Given the description of an element on the screen output the (x, y) to click on. 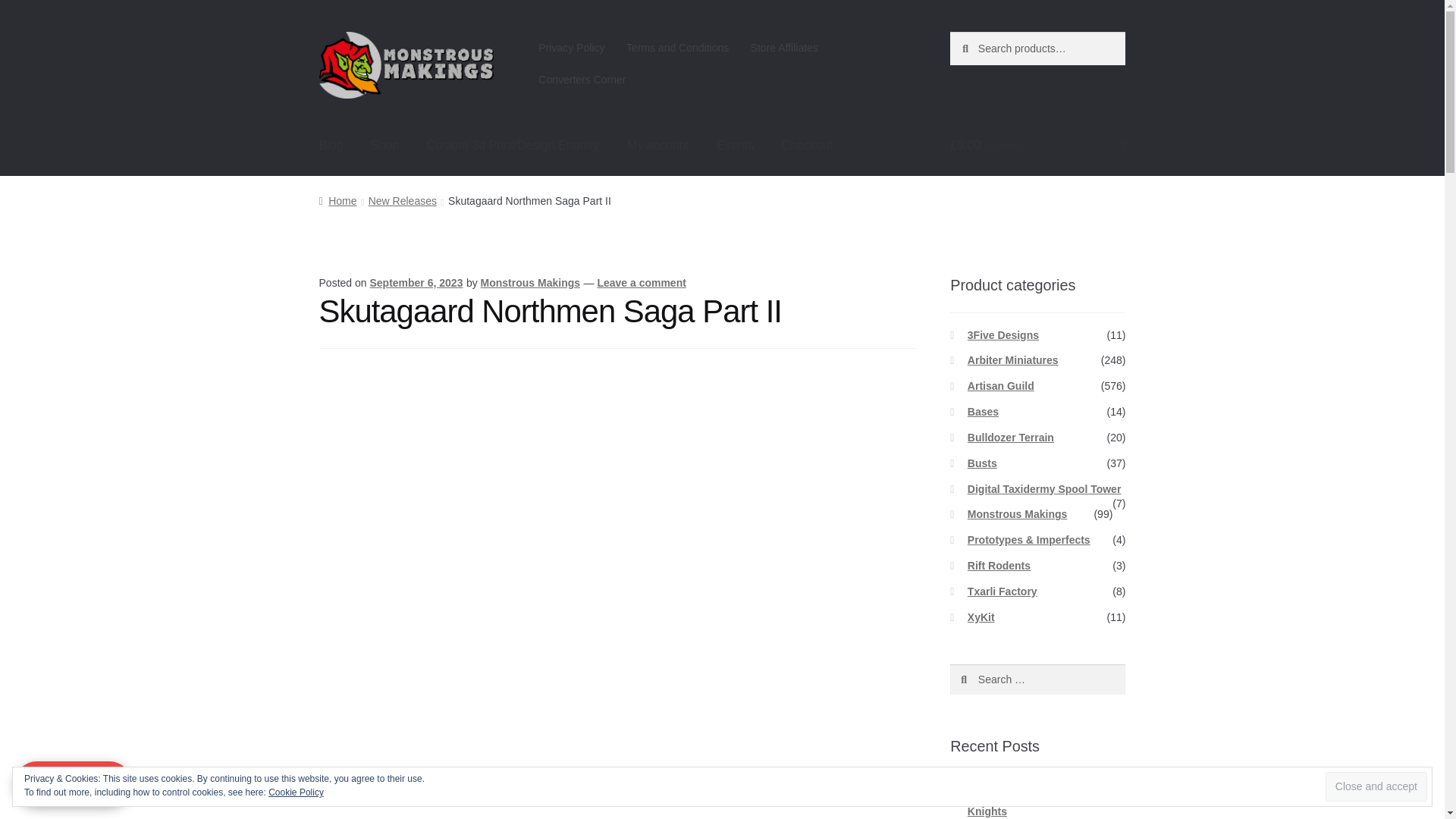
Leave a comment (640, 282)
View your shopping basket (1037, 145)
Privacy Policy (571, 47)
Checkout (807, 145)
Home (337, 200)
Store Affiliates (784, 47)
Events (734, 145)
New Releases (402, 200)
